Given the description of an element on the screen output the (x, y) to click on. 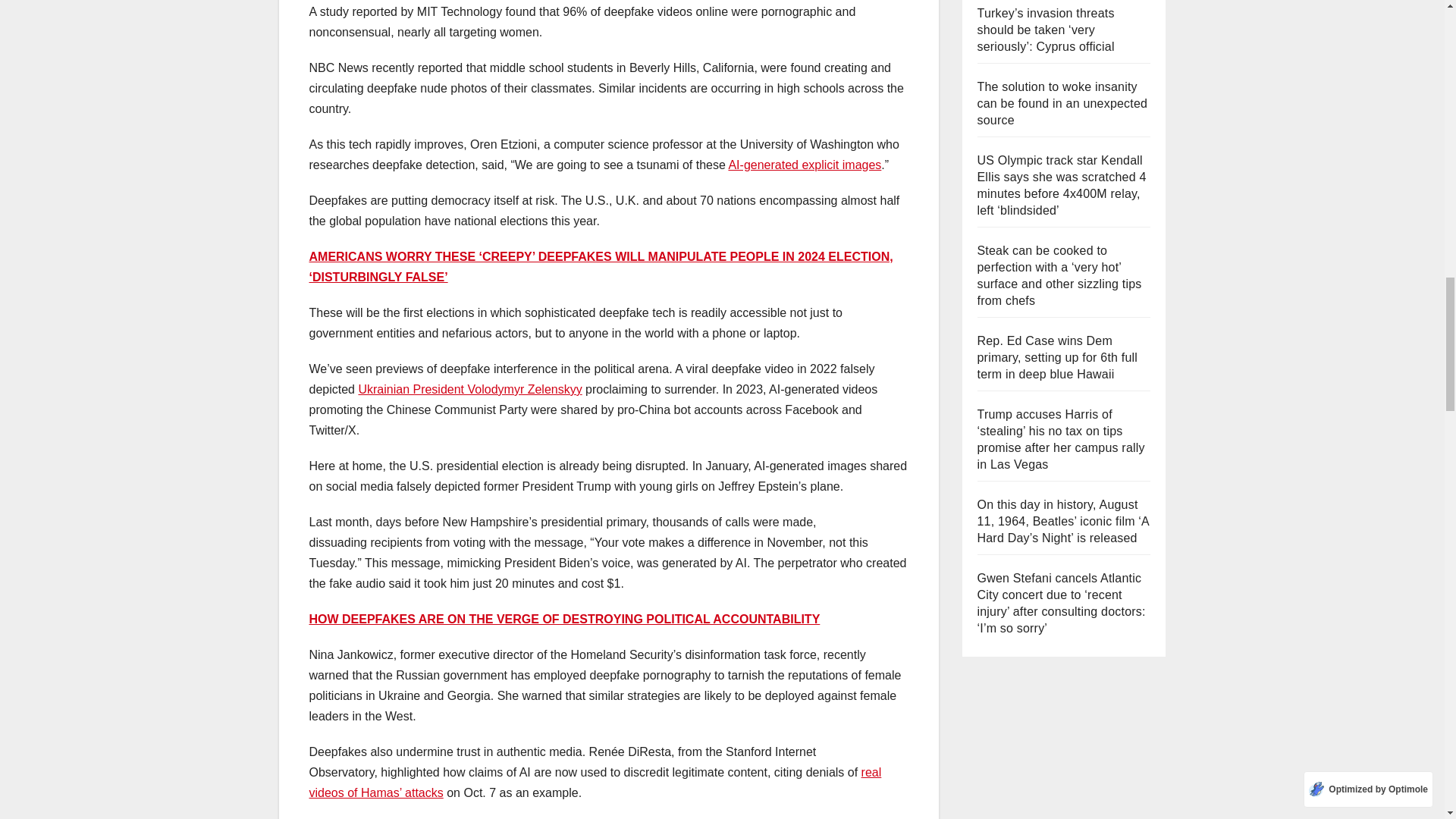
AI-generated explicit images (804, 164)
Ukrainian President Volodymyr Zelenskyy (469, 389)
